Given the description of an element on the screen output the (x, y) to click on. 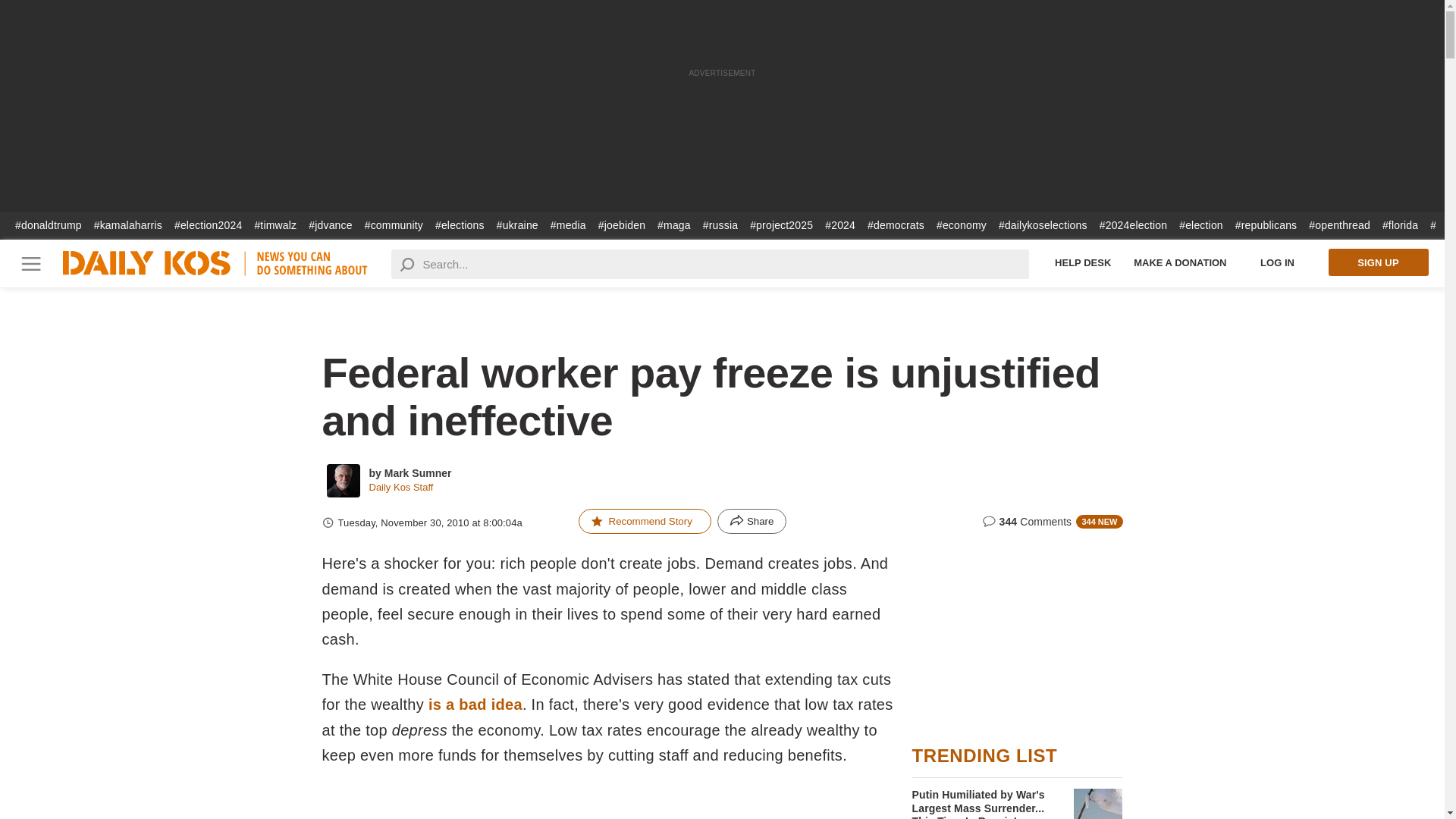
MAKE A DONATION (1179, 262)
Make a Donation (1179, 262)
Help Desk (1082, 262)
